Given the description of an element on the screen output the (x, y) to click on. 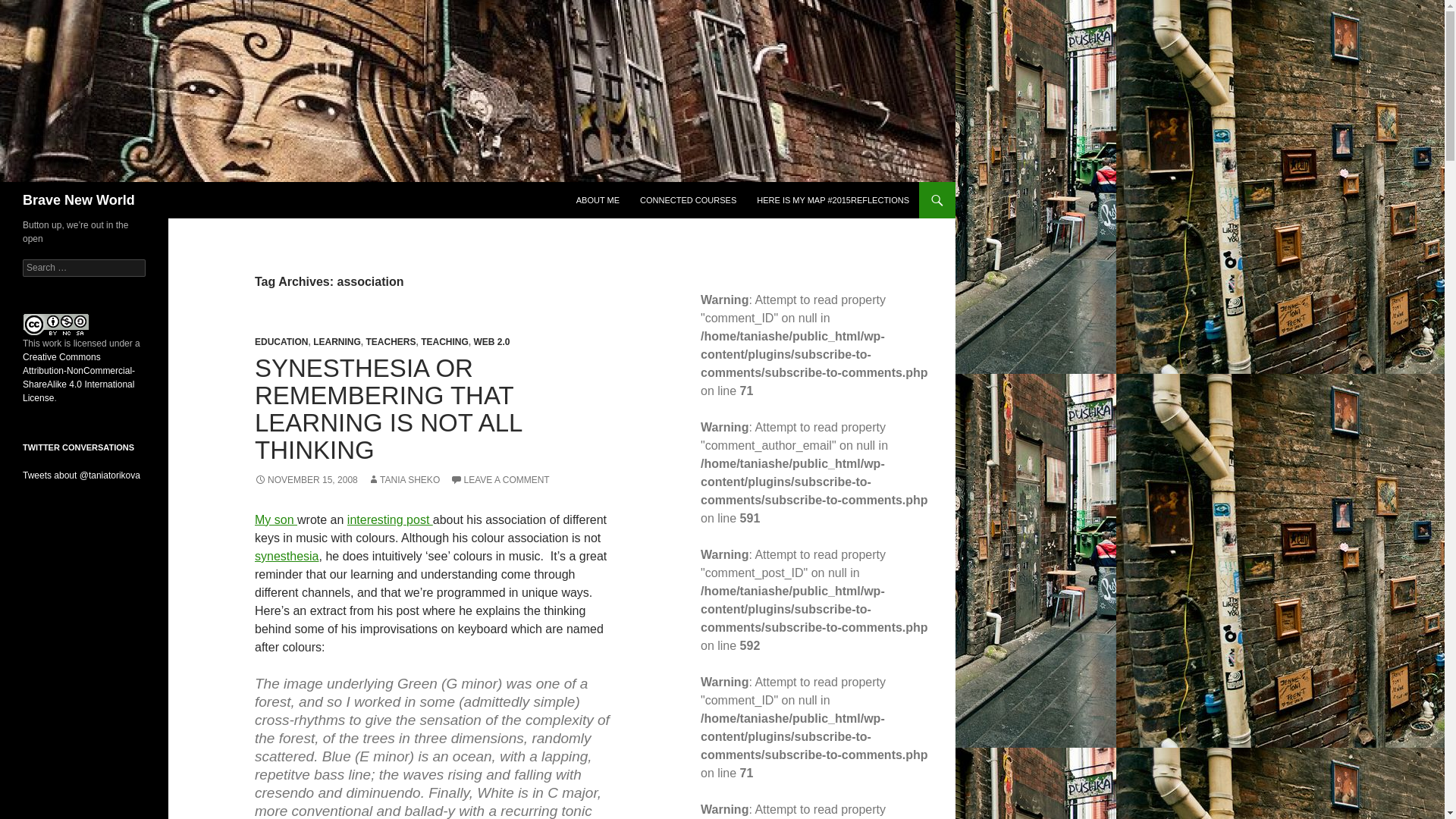
LEAVE A COMMENT (499, 480)
TEACHERS (389, 341)
ABOUT ME (597, 199)
NOVEMBER 15, 2008 (306, 480)
TANIA SHEKO (403, 480)
My son (275, 519)
interesting post (389, 519)
Brave New World (79, 199)
TEACHING (444, 341)
